Given the description of an element on the screen output the (x, y) to click on. 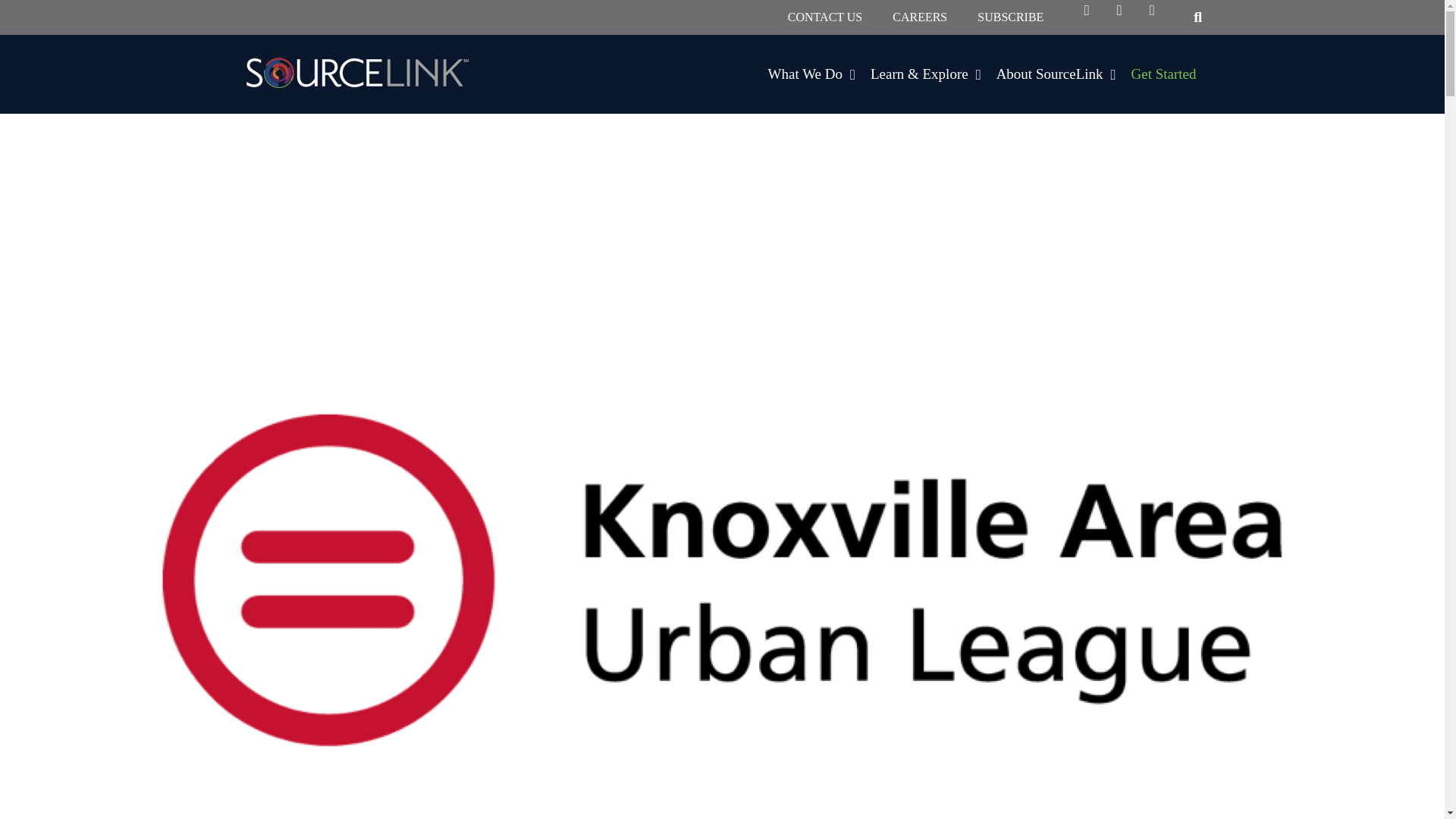
What We Do (811, 73)
CONTACT US (825, 17)
CAREERS (919, 17)
About SourceLink (1056, 73)
SUBSCRIBE (1010, 17)
